Given the description of an element on the screen output the (x, y) to click on. 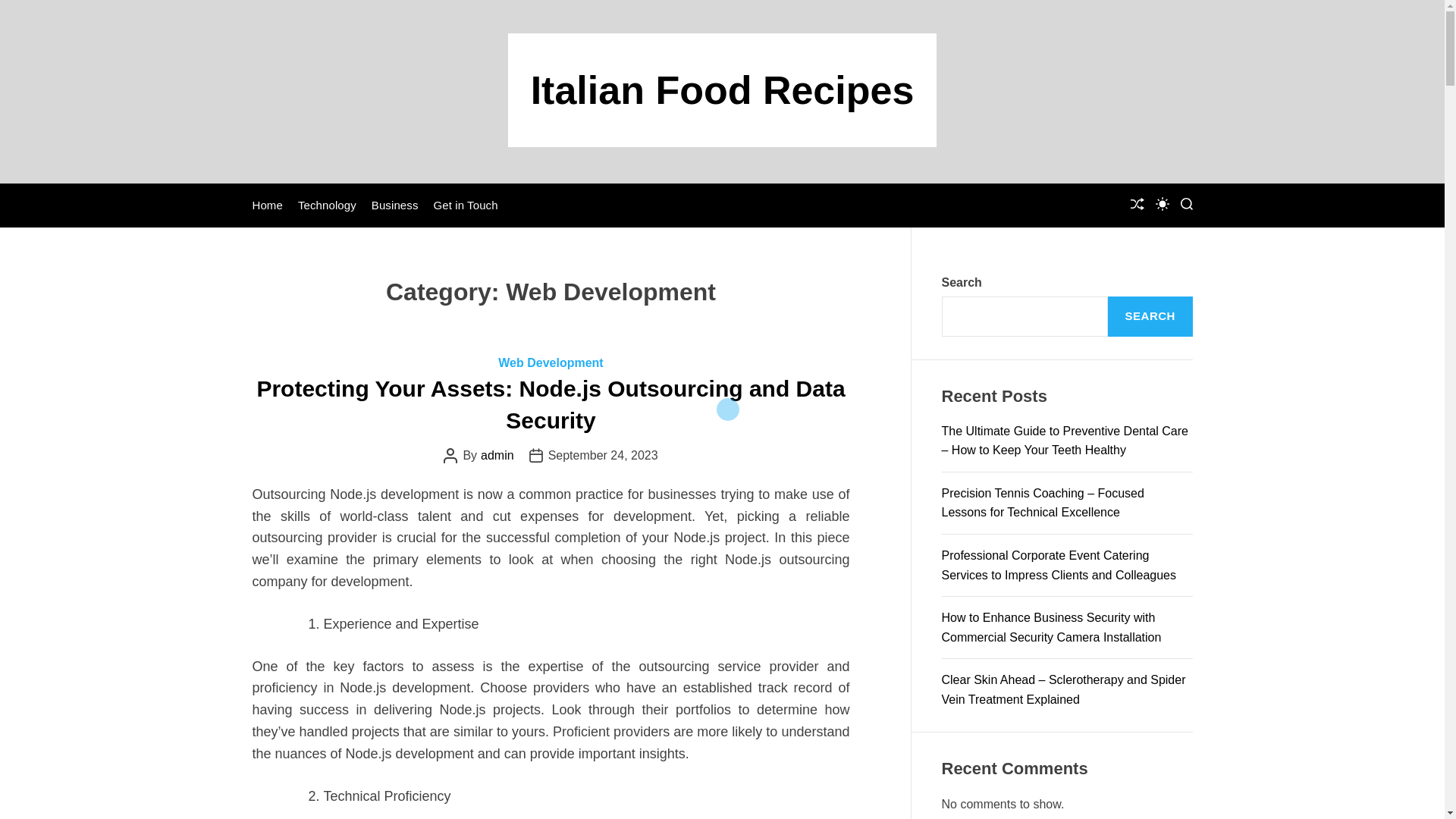
Home (266, 205)
admin (496, 455)
Web Development (549, 362)
Italian Food Recipes (722, 89)
SWITCH COLOR MODE (1162, 203)
Get in Touch (464, 205)
Business (395, 205)
Technology (327, 205)
